Given the description of an element on the screen output the (x, y) to click on. 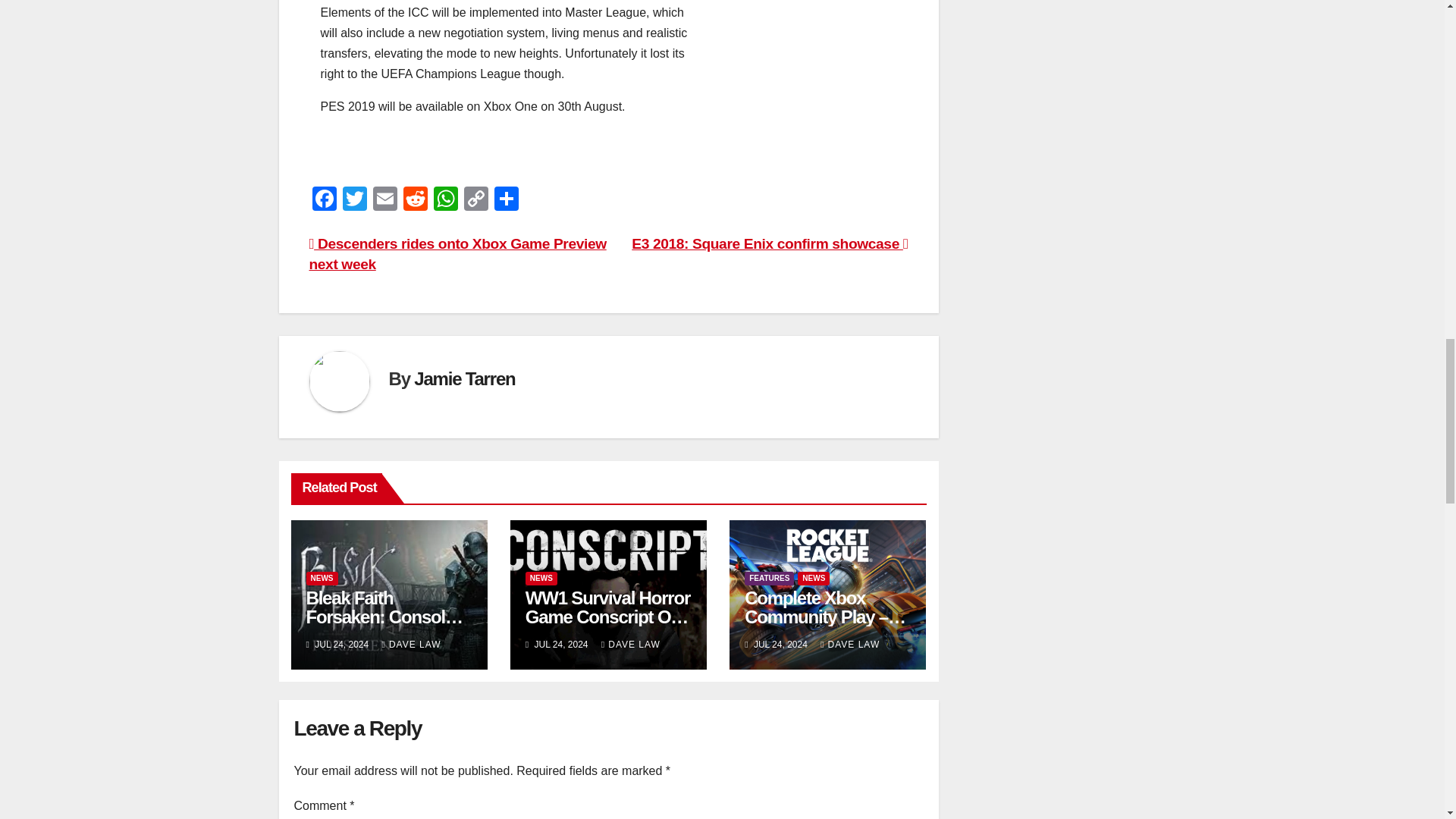
Twitter (354, 200)
Facebook (323, 200)
Twitter (354, 200)
WhatsApp (445, 200)
Email (384, 200)
Email (384, 200)
Copy Link (476, 200)
Facebook (323, 200)
Reddit (415, 200)
